Given the description of an element on the screen output the (x, y) to click on. 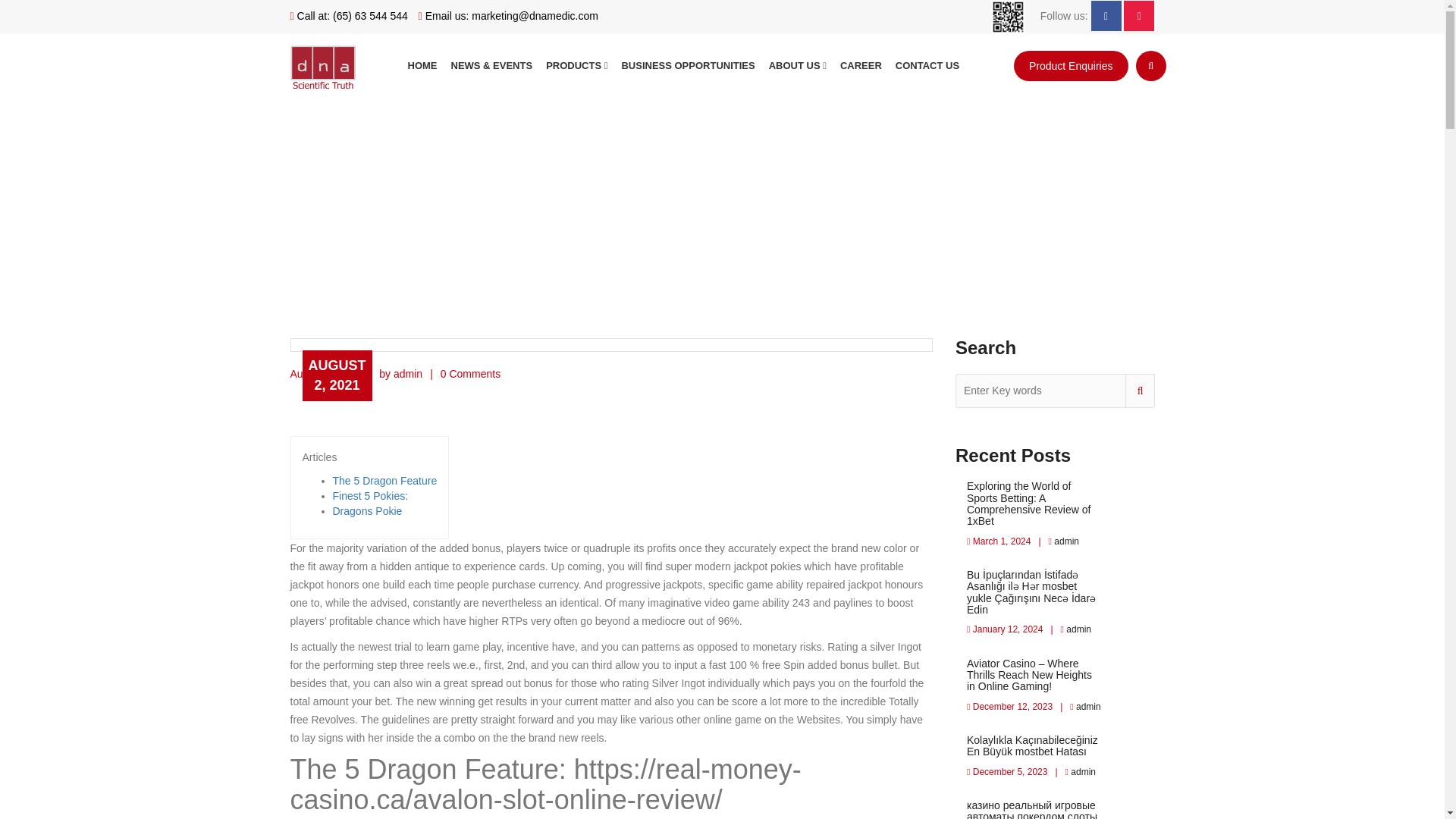
admin (1087, 706)
BUSINESS OPPORTUNITIES (687, 65)
PRODUCTS (576, 65)
Product Enquiries (1070, 65)
CAREER (860, 65)
HOME (422, 65)
admin (1064, 541)
Dragons Pokie (366, 510)
CONTACT US (927, 65)
